Given the description of an element on the screen output the (x, y) to click on. 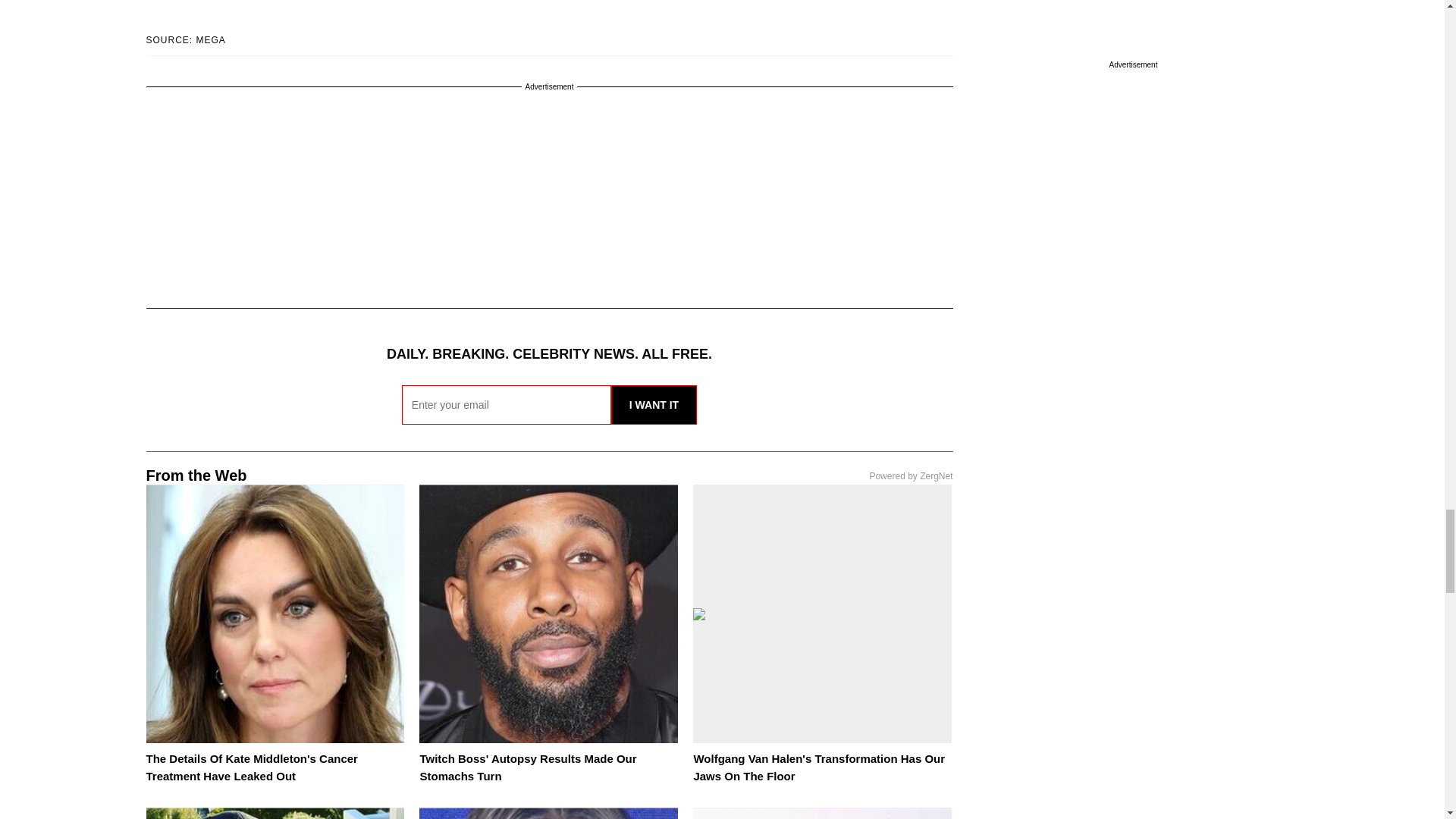
I WANT IT (654, 404)
I WANT IT (654, 404)
Twitch Boss' Autopsy Results Made Our Stomachs Turn (527, 767)
Powered by ZergNet (910, 475)
